Given the description of an element on the screen output the (x, y) to click on. 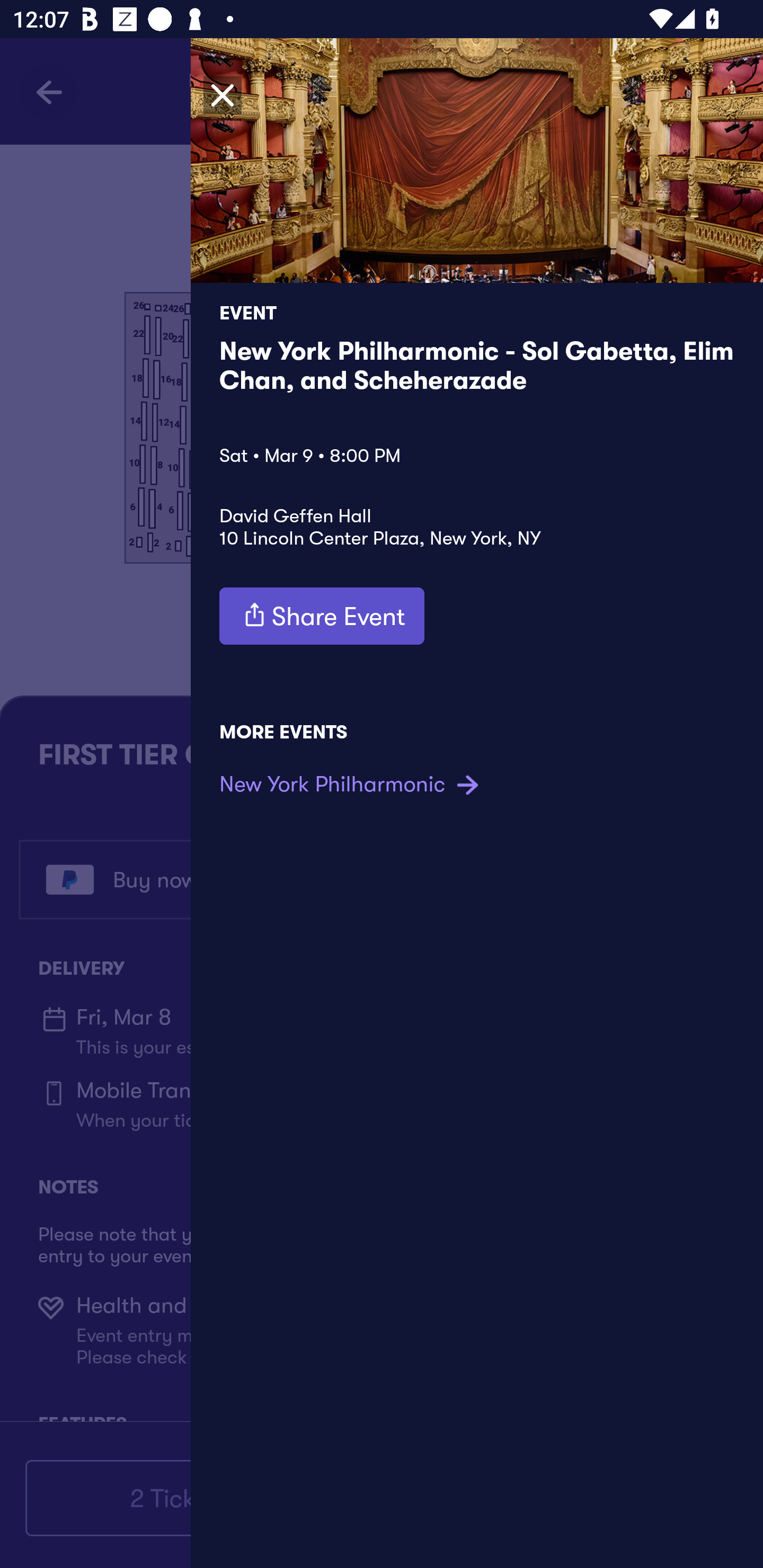
Share Event (321, 616)
New York Philharmonic (351, 783)
